Given the description of an element on the screen output the (x, y) to click on. 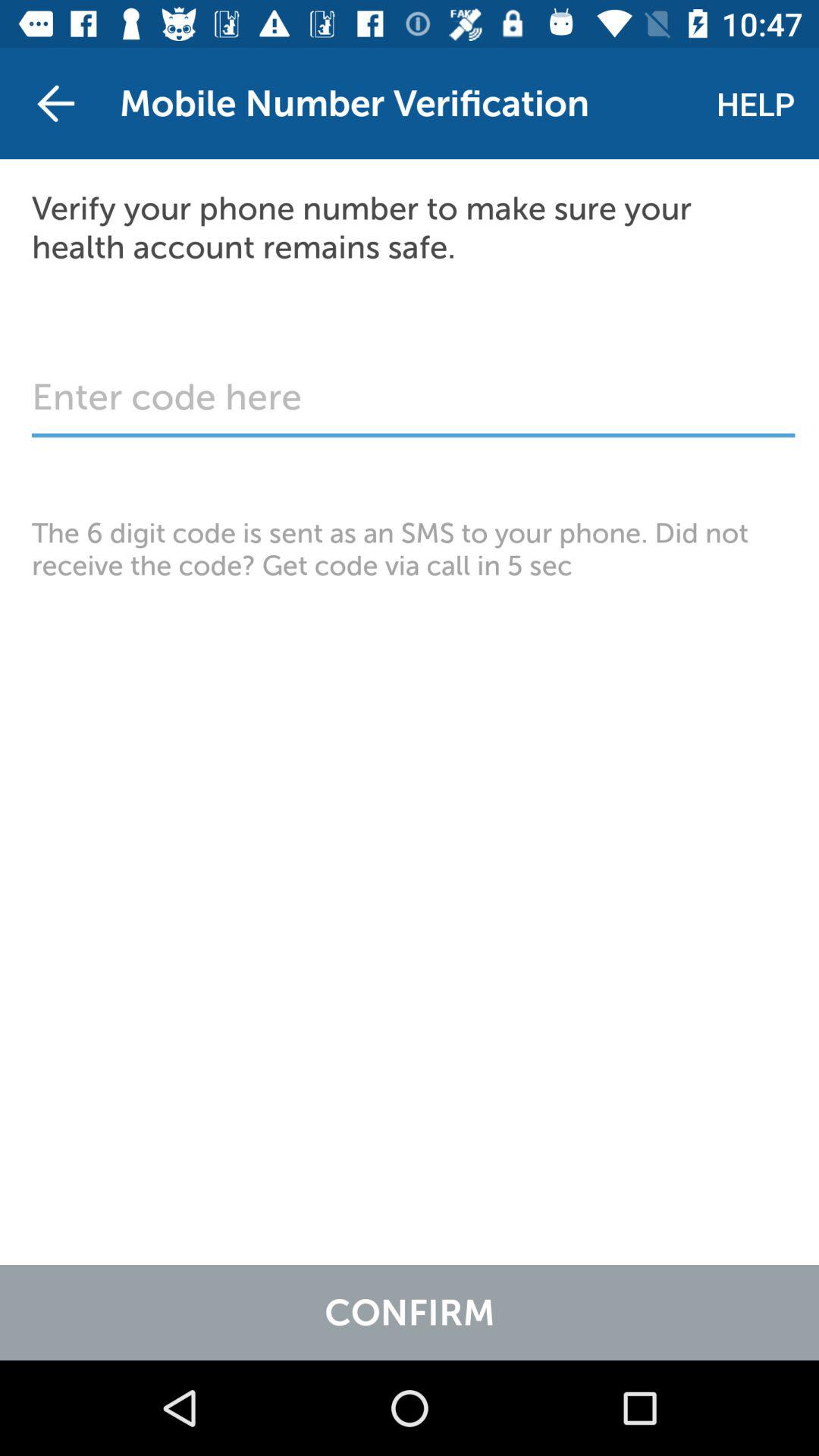
turn on the icon above confirm item (409, 549)
